Given the description of an element on the screen output the (x, y) to click on. 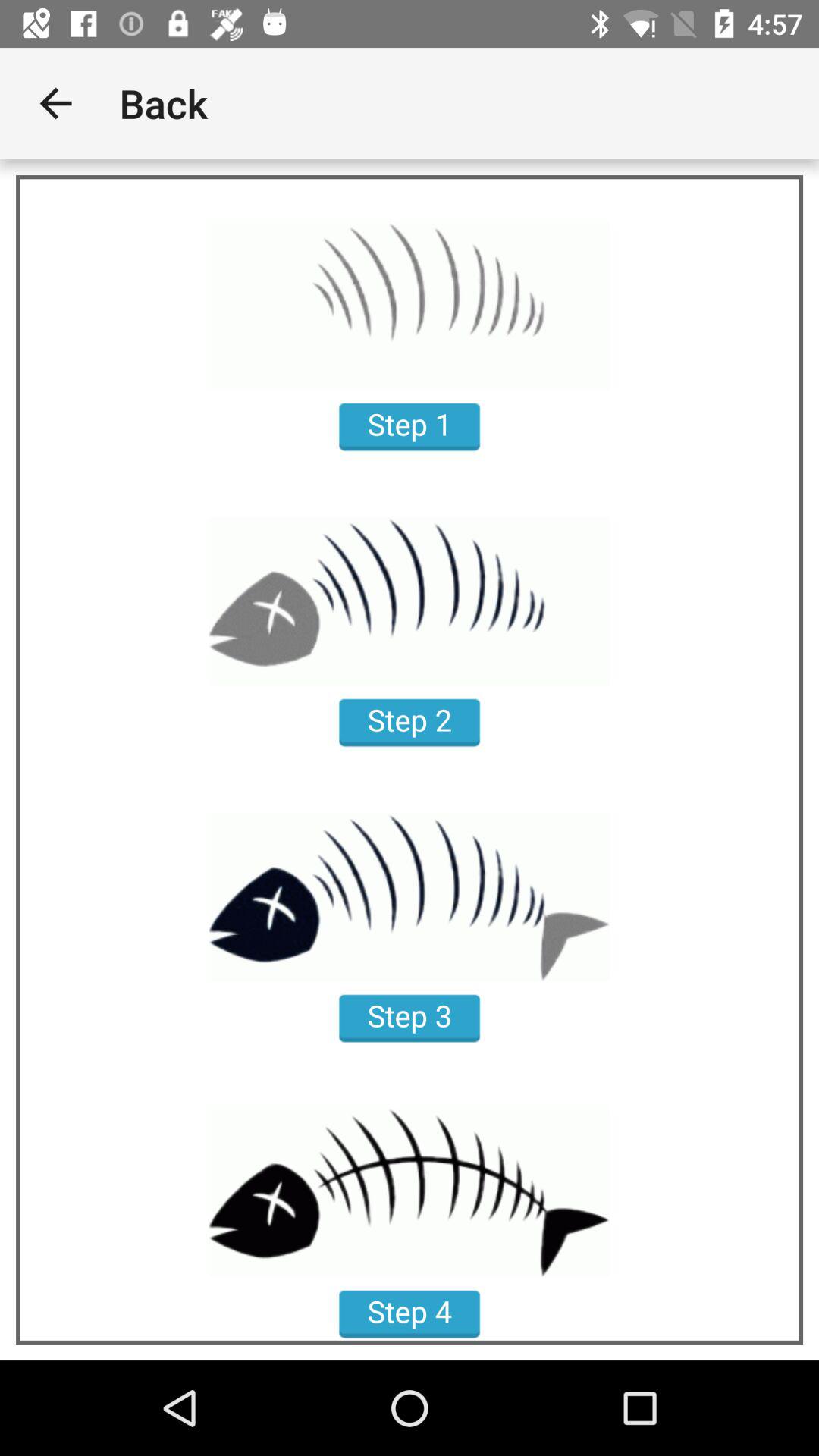
turn off icon next to the back (55, 103)
